Given the description of an element on the screen output the (x, y) to click on. 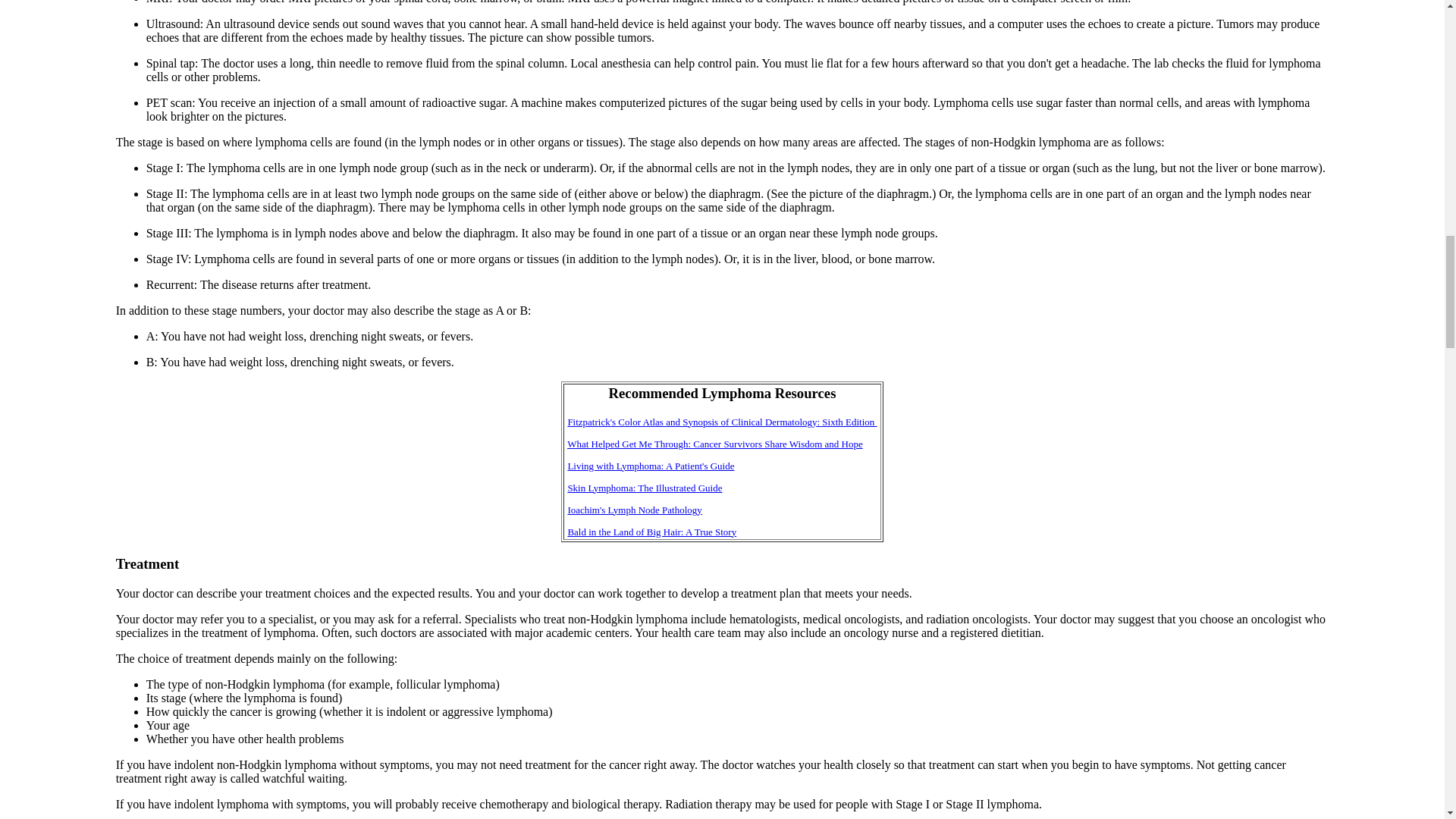
Living with Lymphoma: A Patient's Guide (650, 464)
Skin Lymphoma: The Illustrated Guide (644, 487)
Ioachim's Lymph Node Pathology (634, 509)
Bald in the Land of Big Hair: A True Story (651, 531)
